Given the description of an element on the screen output the (x, y) to click on. 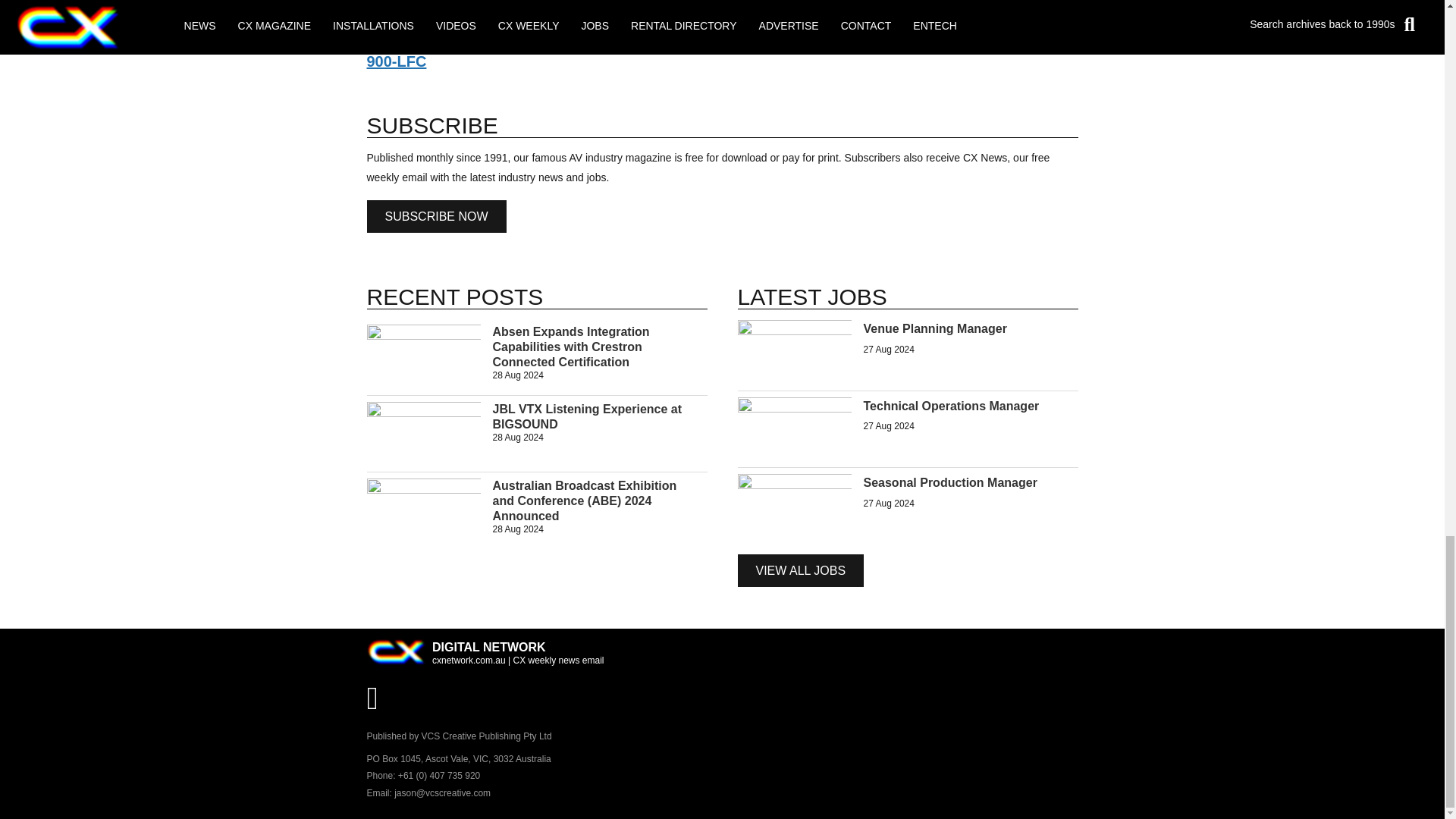
Technical Operations Manager (793, 427)
Venue Planning Manager (793, 350)
JBL VTX Listening Experience at BIGSOUND (587, 416)
Venue Planning Manager (934, 328)
JBL VTX Listening Experience at BIGSOUND (587, 416)
LEOPARD (402, 21)
JBL VTX Listening Experience at BIGSOUND (423, 431)
